Given the description of an element on the screen output the (x, y) to click on. 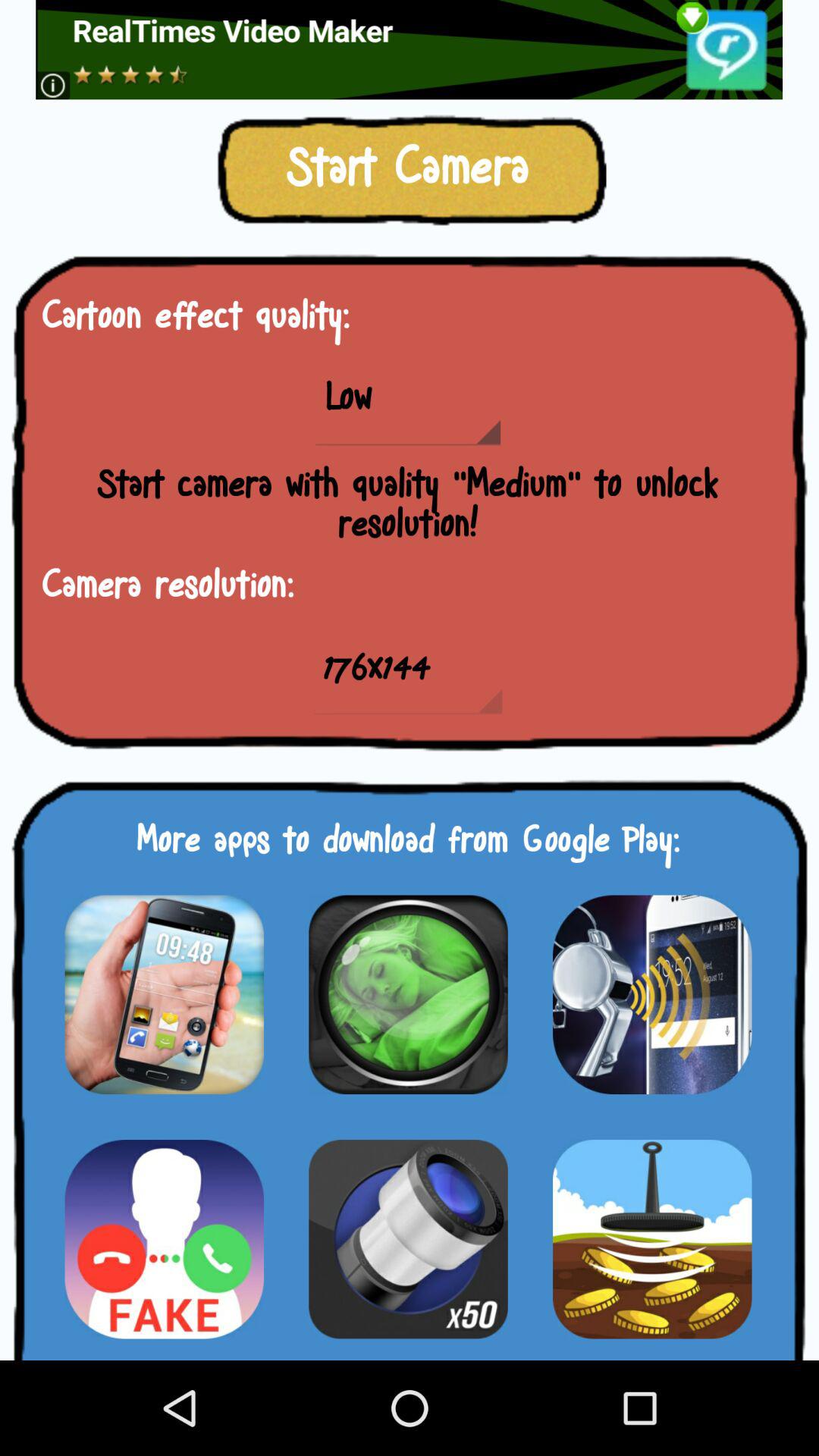
select app (652, 994)
